Given the description of an element on the screen output the (x, y) to click on. 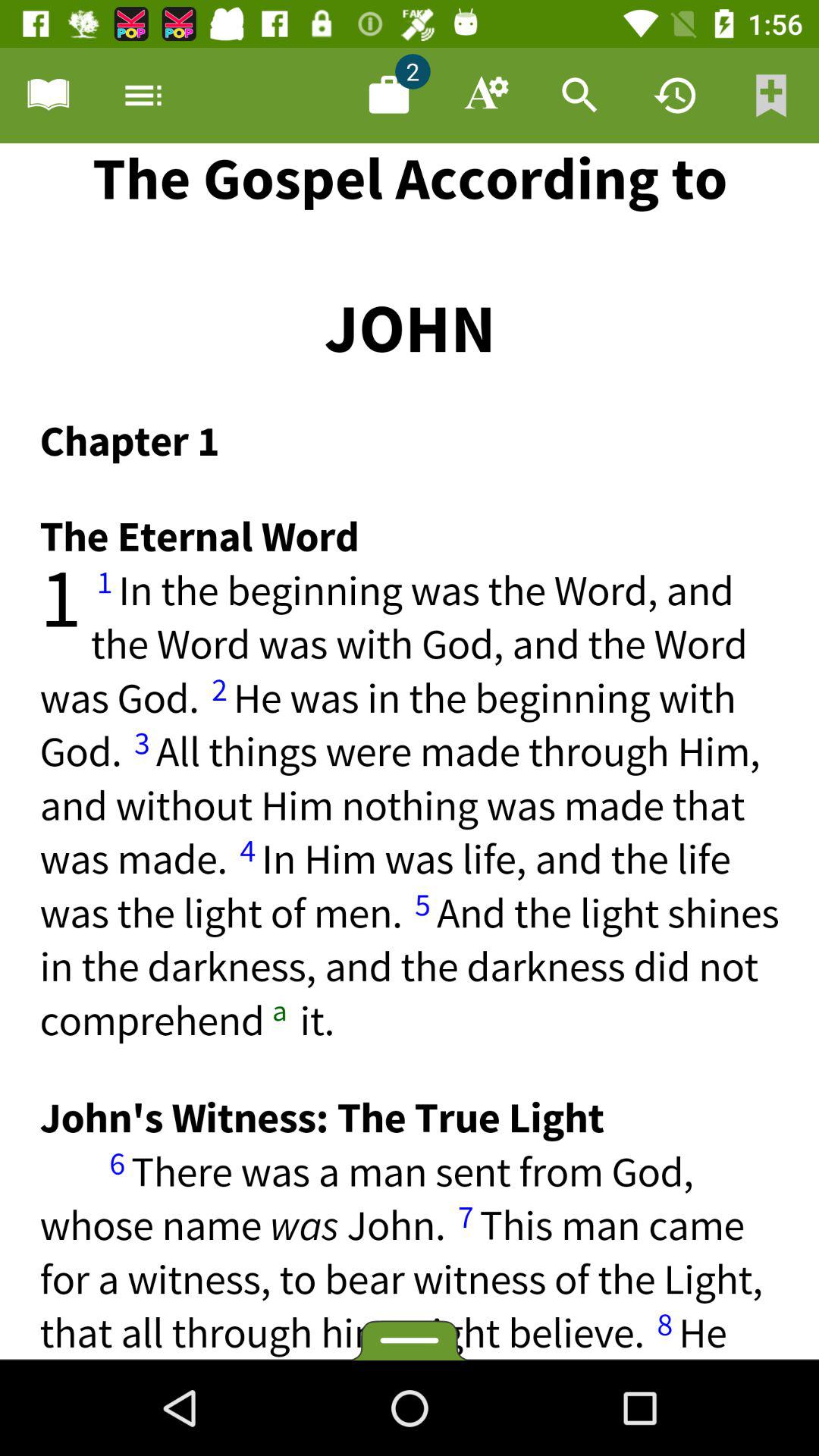
bookmarks (771, 95)
